Given the description of an element on the screen output the (x, y) to click on. 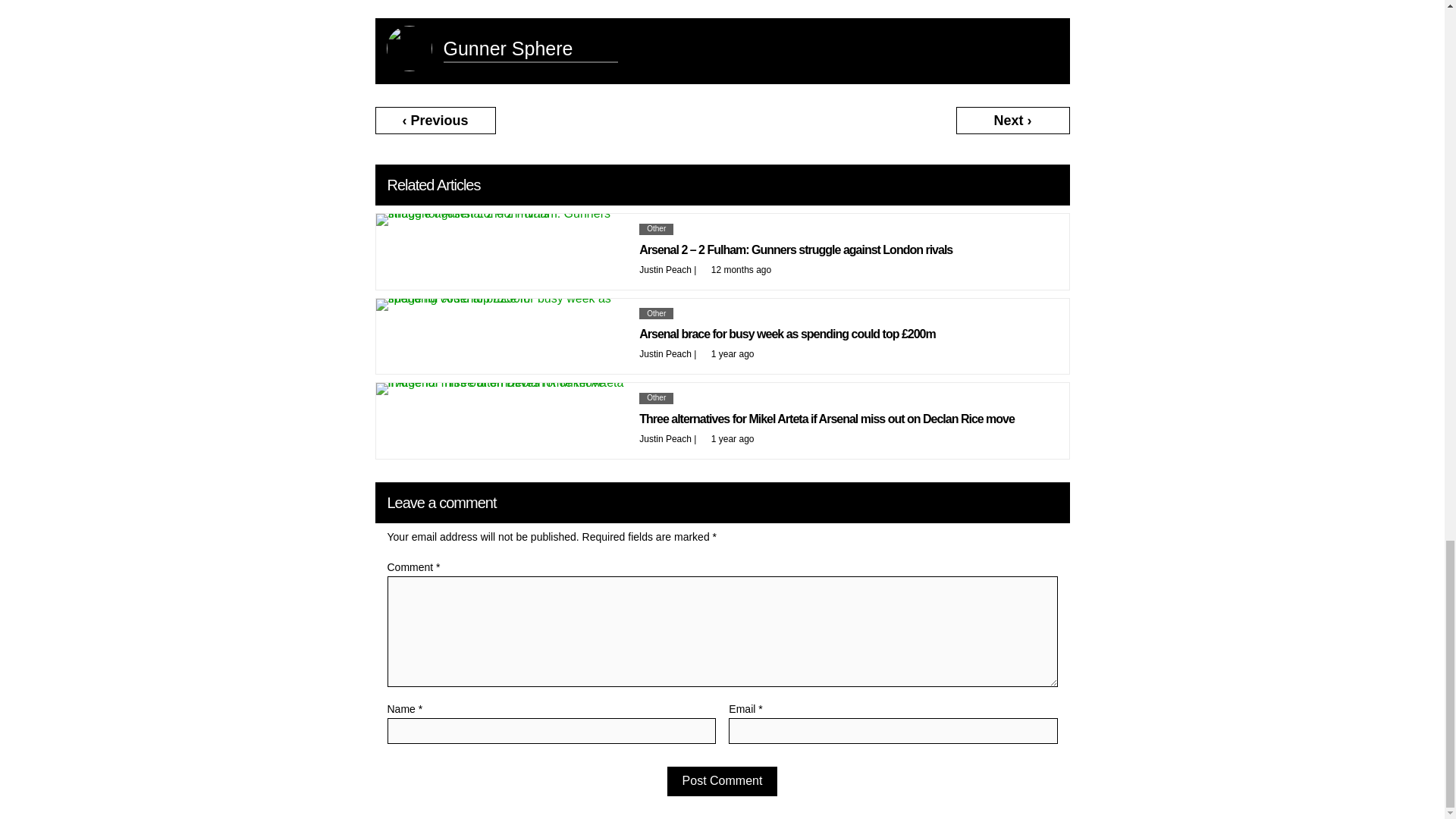
Other (655, 228)
Justin Peach (665, 268)
Gunner Sphere (507, 47)
Other (655, 313)
Post Comment (721, 780)
